Given the description of an element on the screen output the (x, y) to click on. 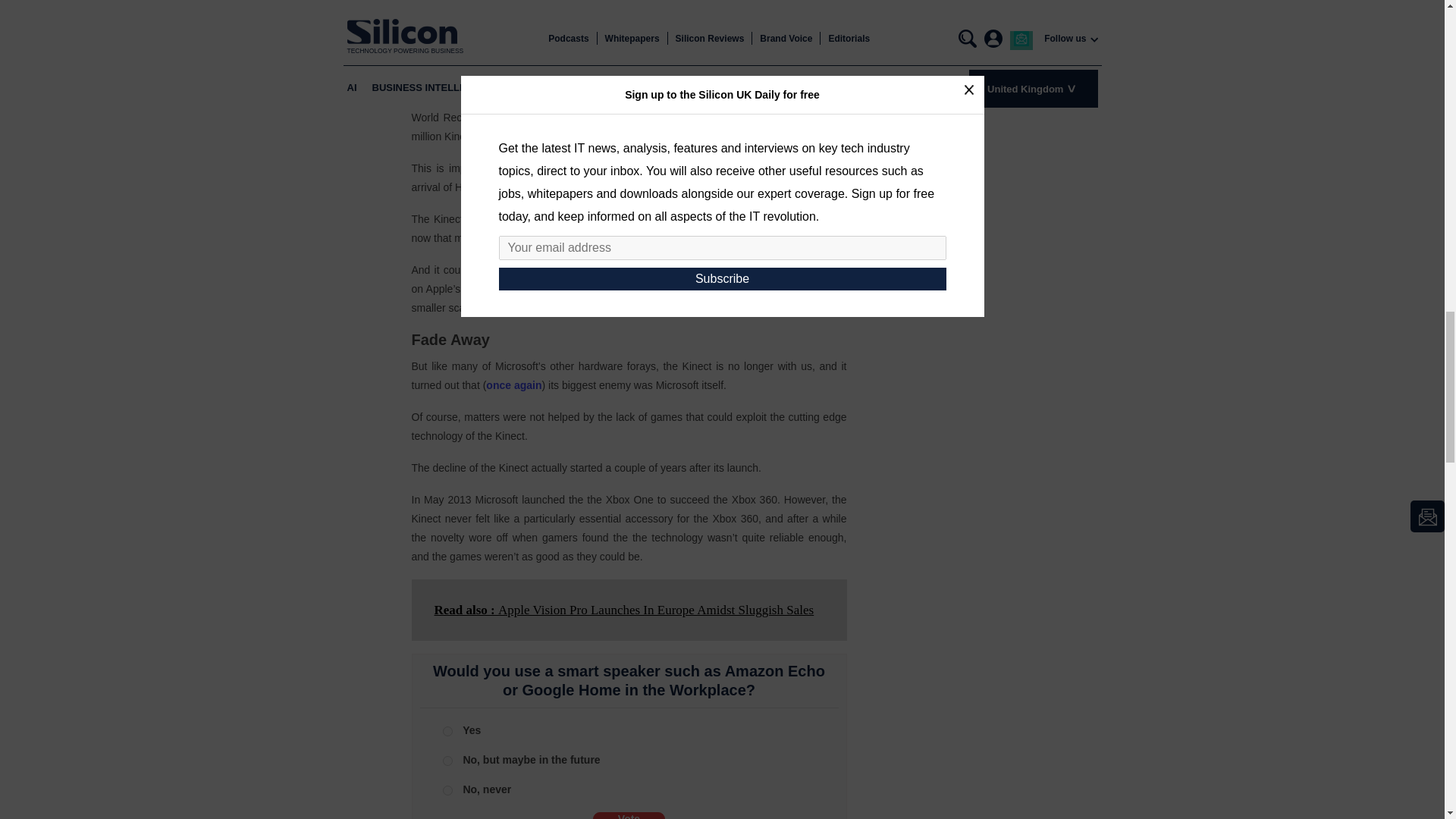
   Vote    (628, 815)
629 (447, 760)
627 (447, 731)
631 (447, 790)
